Given the description of an element on the screen output the (x, y) to click on. 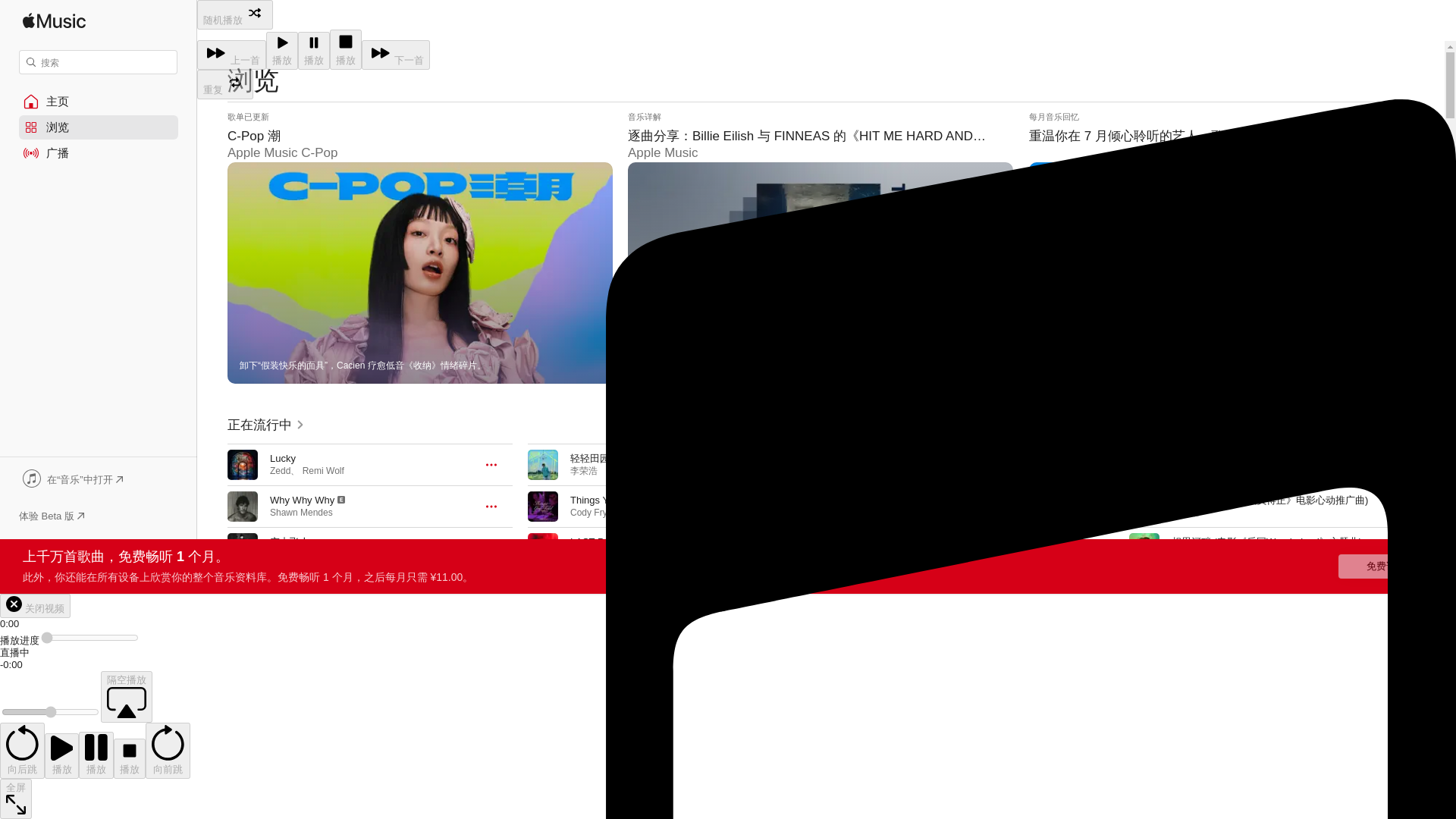
Remi Wolf (322, 470)
Shawn Mendes (301, 511)
Cry Baby (289, 583)
Lucky (282, 458)
Zedd (279, 470)
Why Why Why (301, 500)
